Given the description of an element on the screen output the (x, y) to click on. 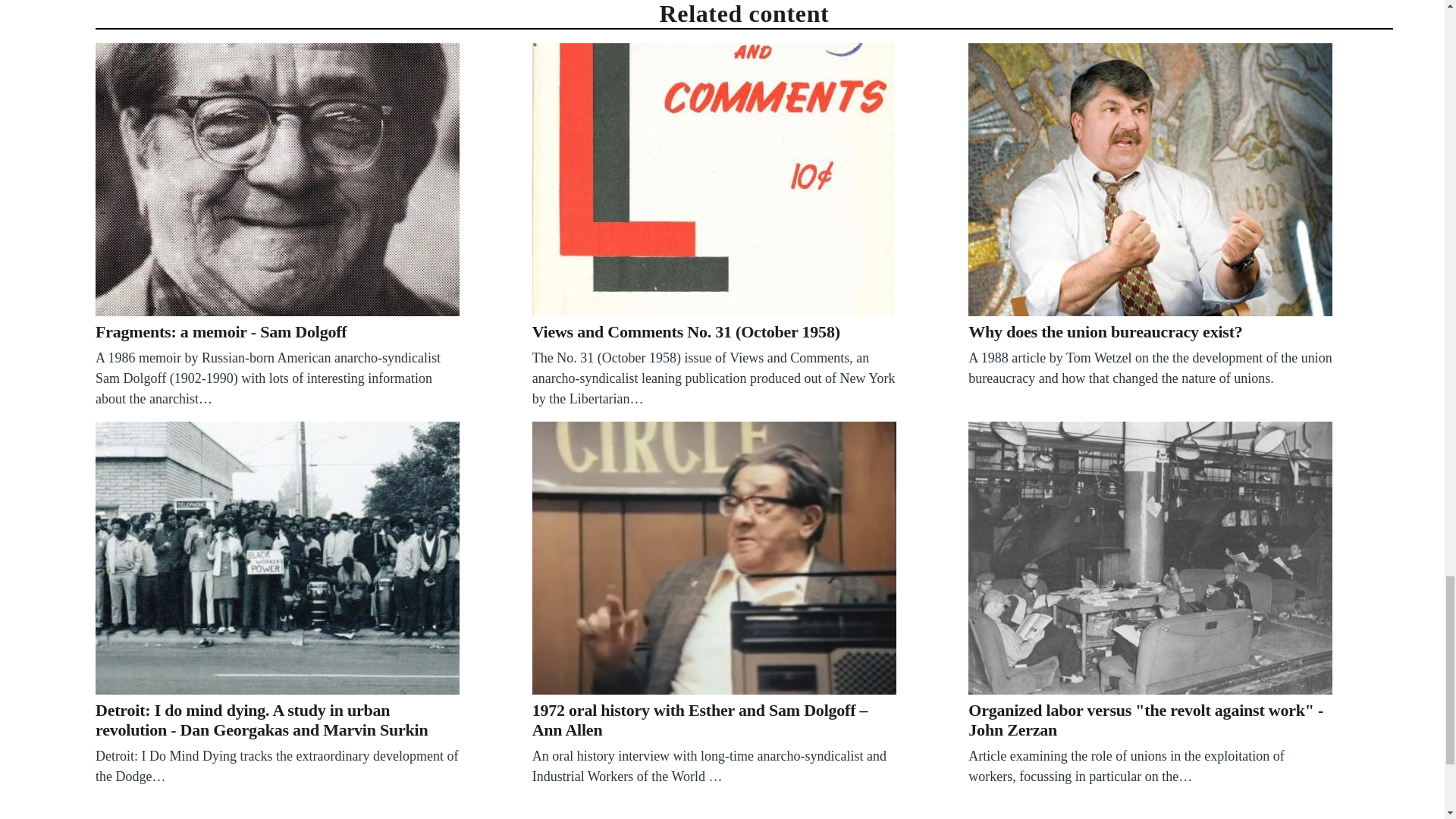
Black workers demonstrate (278, 557)
Sam Dolgoff (278, 179)
Richard Trumka, president of the AFL-CIO (1150, 179)
UAW sit-down strike in Flint, 1937 (1150, 557)
